Given the description of an element on the screen output the (x, y) to click on. 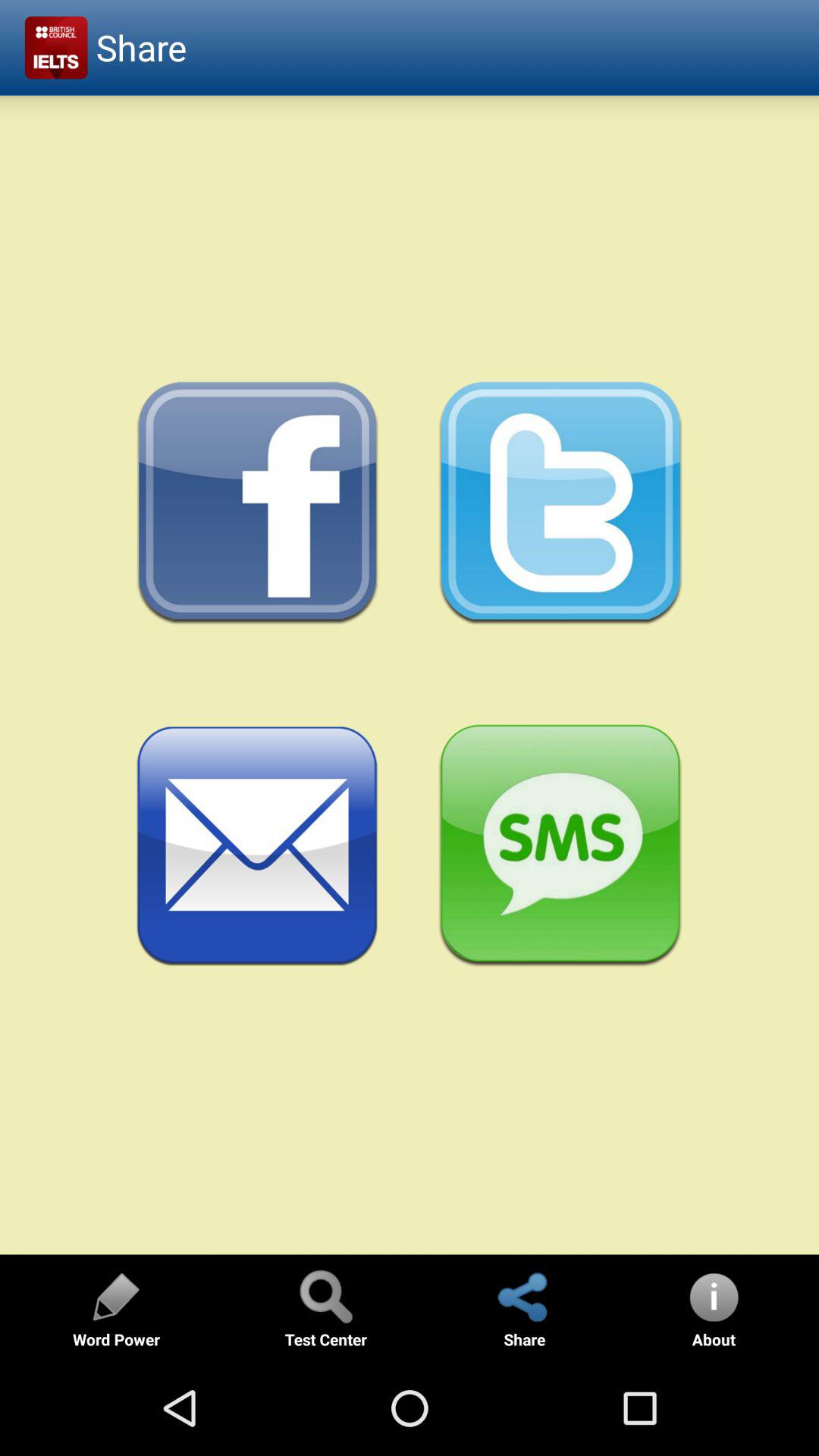
share as message (560, 846)
